Given the description of an element on the screen output the (x, y) to click on. 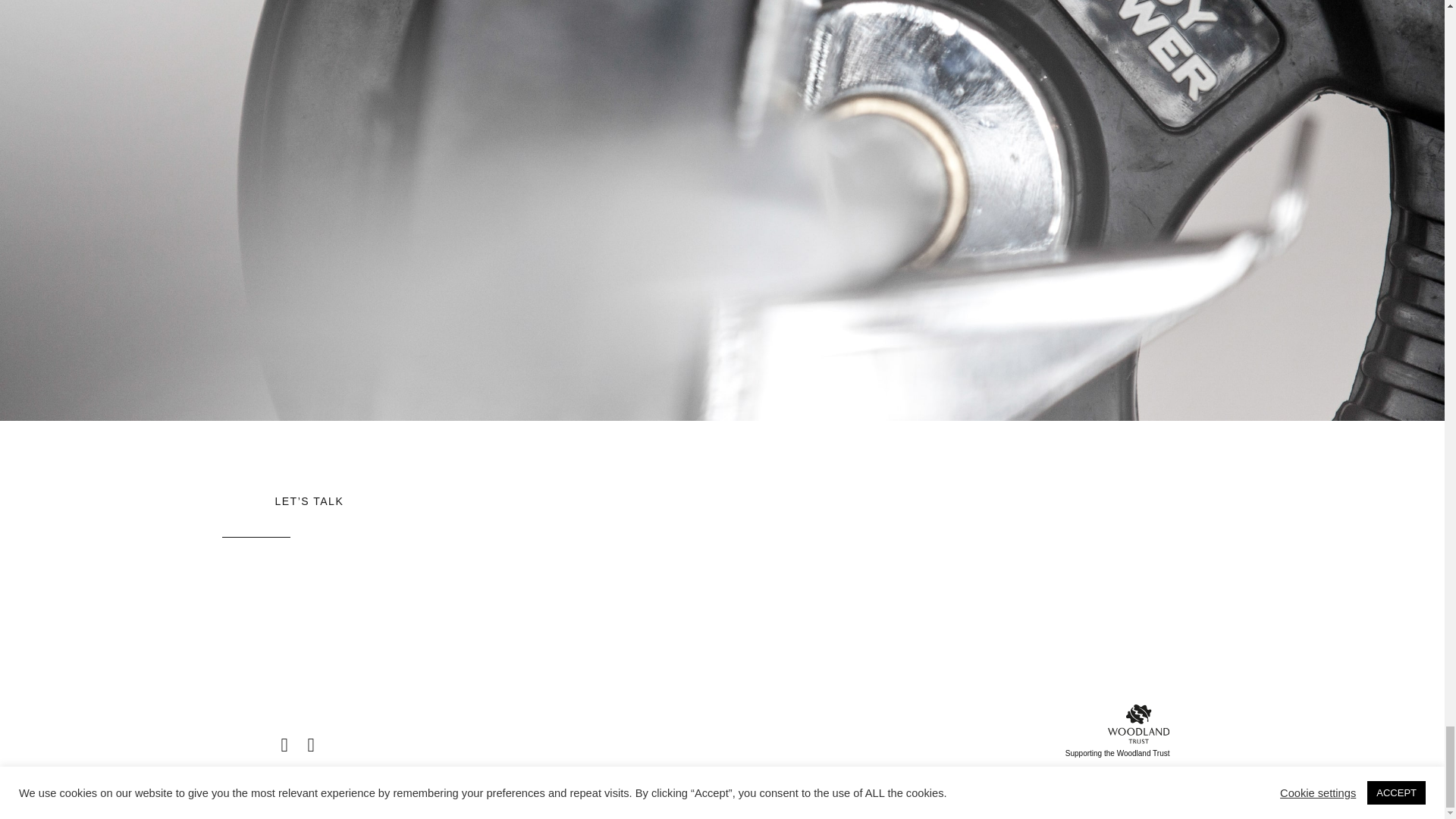
Privacy Policy (1007, 777)
Terms of Use (955, 777)
